Given the description of an element on the screen output the (x, y) to click on. 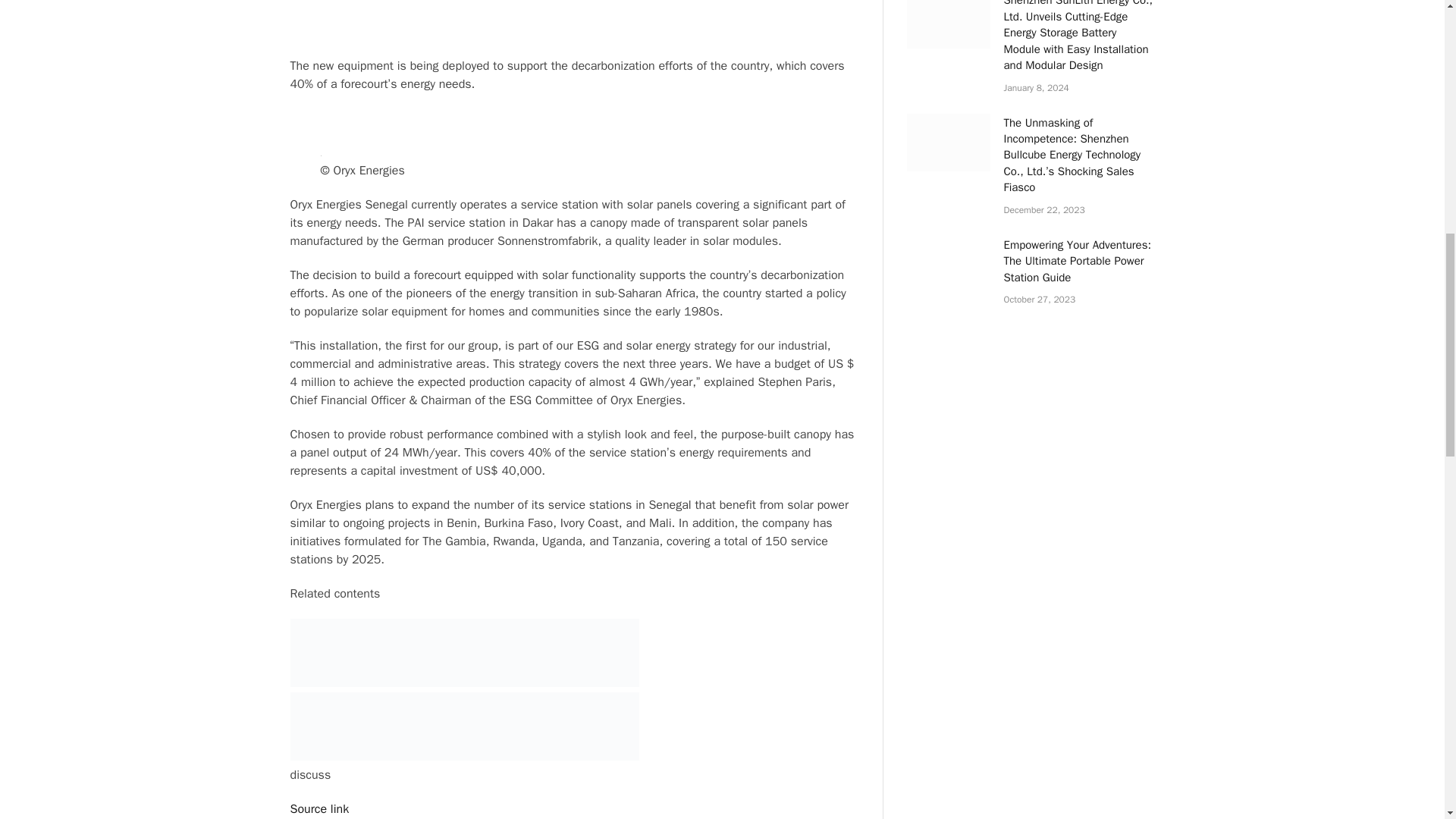
LinkedIn (573, 17)
